Given the description of an element on the screen output the (x, y) to click on. 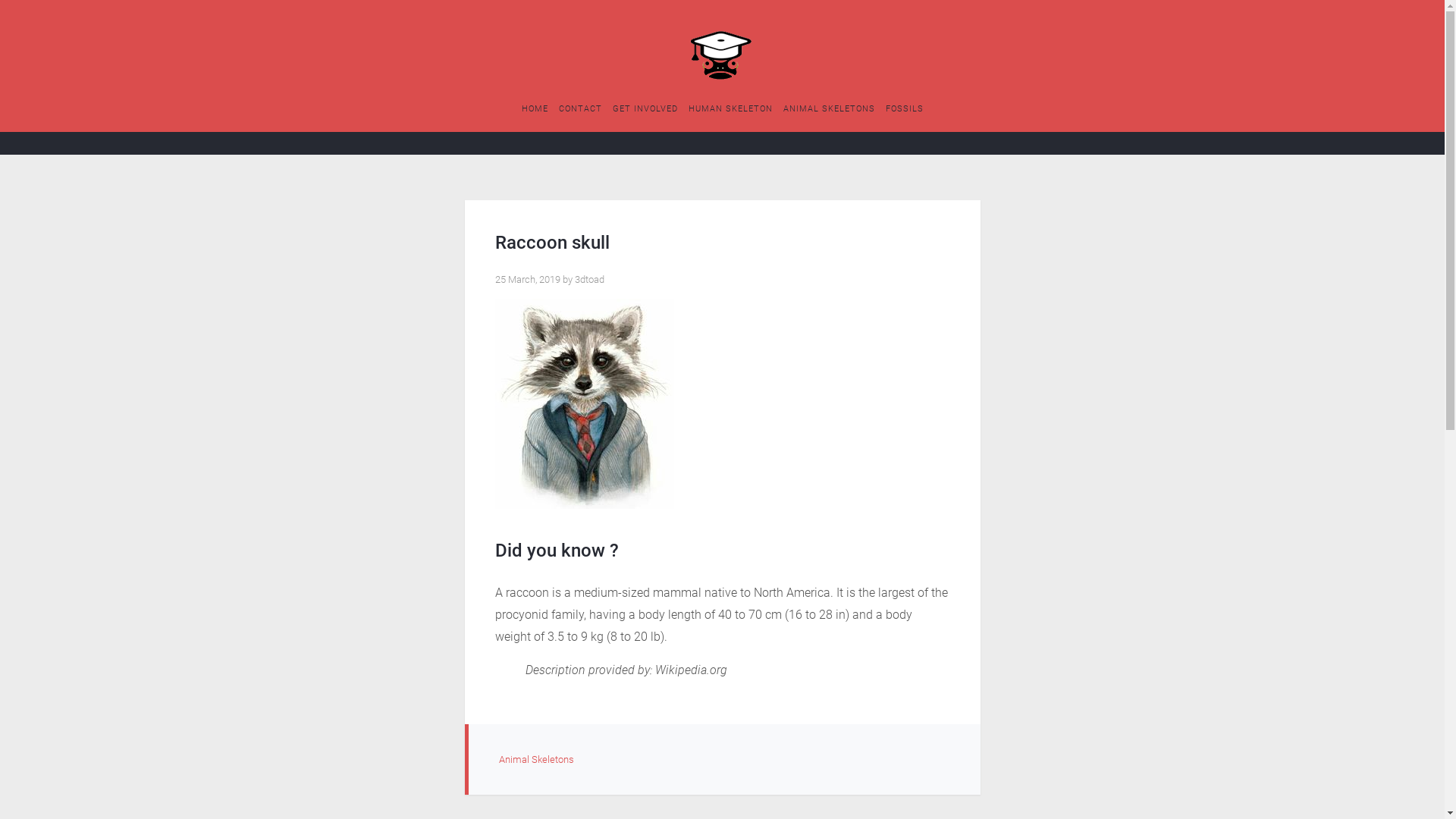
HUMAN SKELETON Element type: text (730, 108)
HOME Element type: text (534, 108)
3dtoad Element type: text (589, 279)
GET INVOLVED Element type: text (644, 108)
CONTACT Element type: text (579, 108)
ANIMAL SKELETONS Element type: text (828, 108)
Animal Skeletons Element type: text (536, 759)
FOSSILS Element type: text (904, 108)
